Given the description of an element on the screen output the (x, y) to click on. 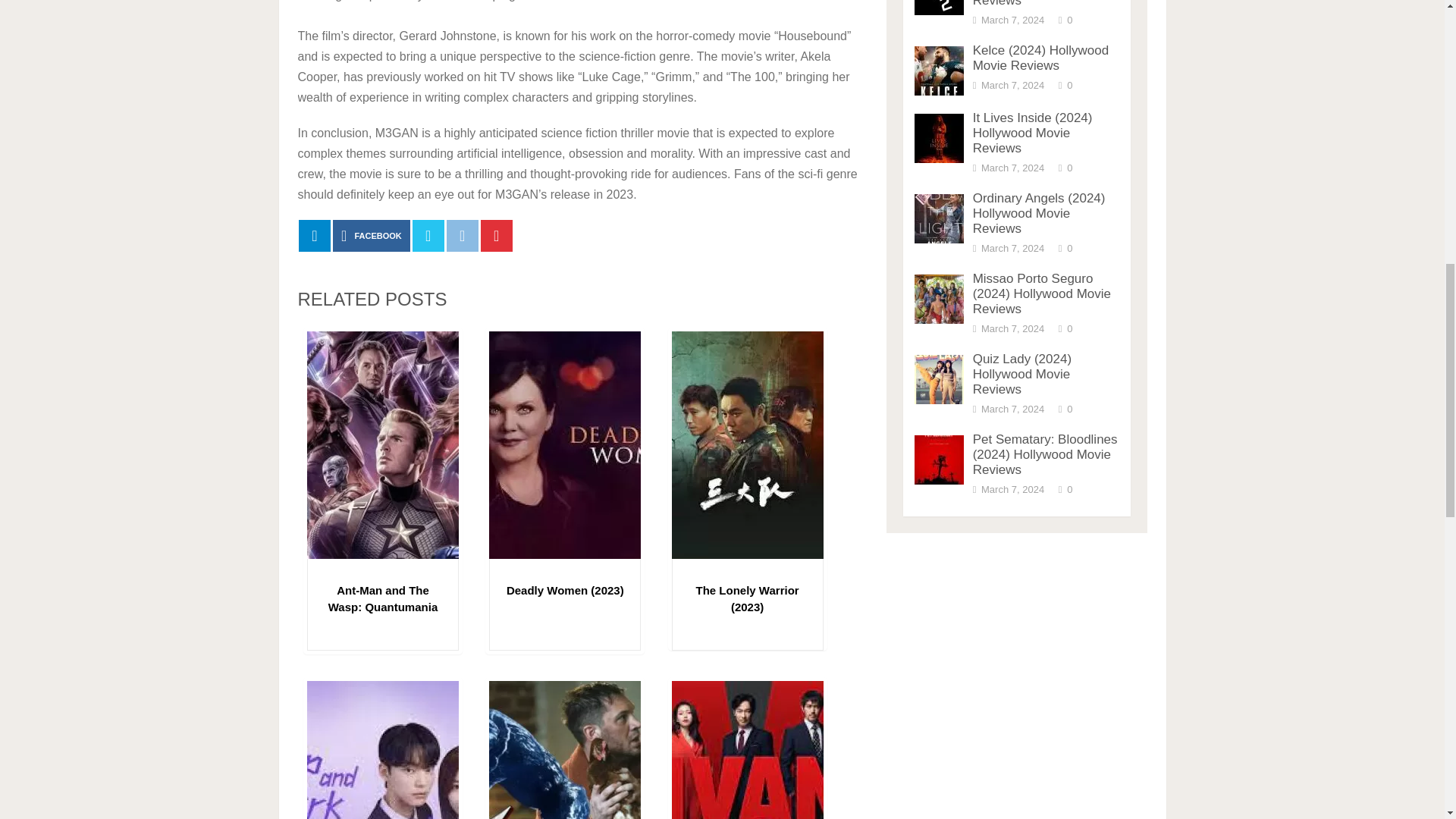
FACEBOOK (371, 235)
Ant-Man and The Wasp: Quantumania (383, 598)
Ant-Man and The Wasp: Quantumania (383, 598)
